Given the description of an element on the screen output the (x, y) to click on. 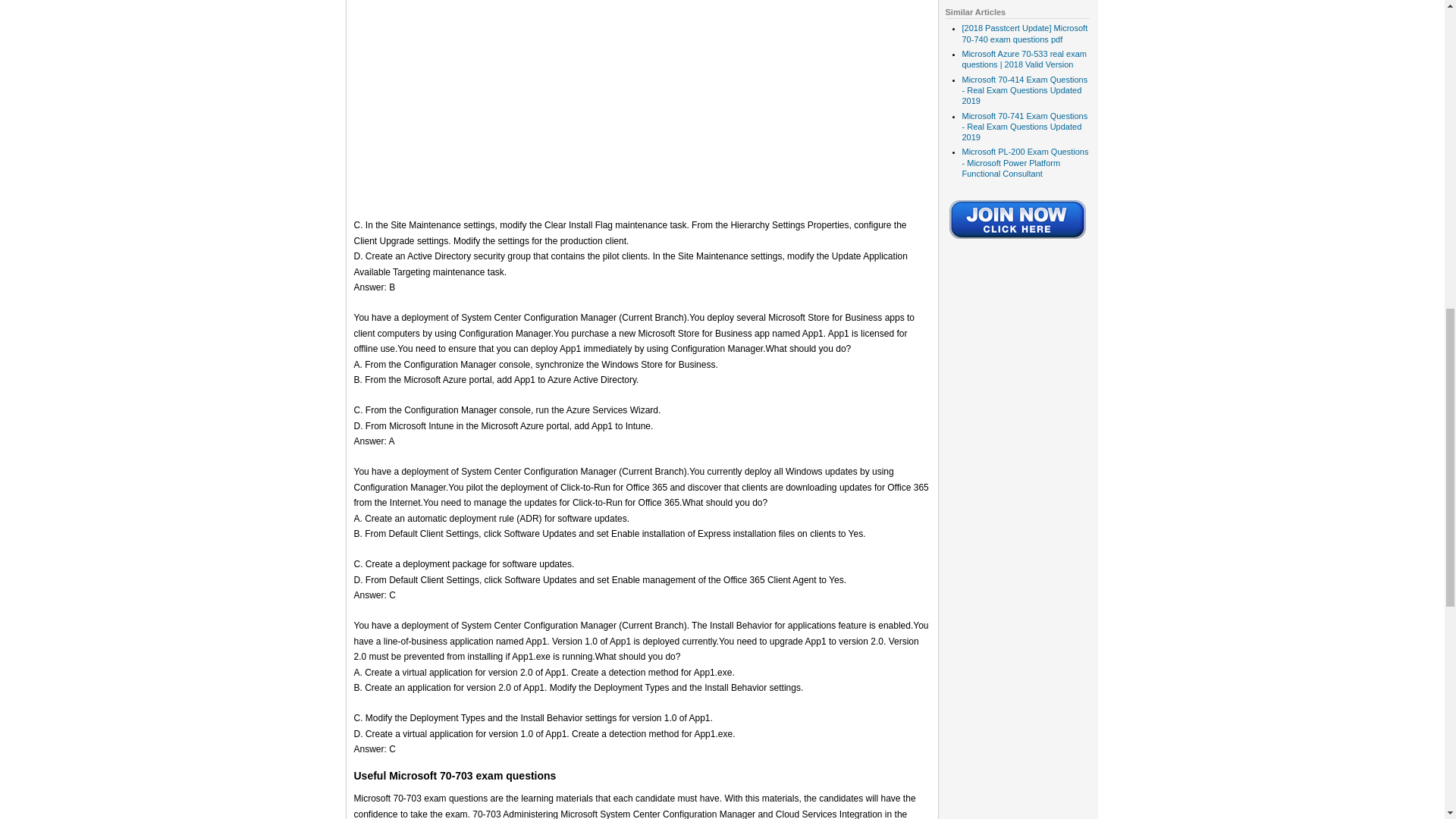
Advertisement (641, 101)
